Given the description of an element on the screen output the (x, y) to click on. 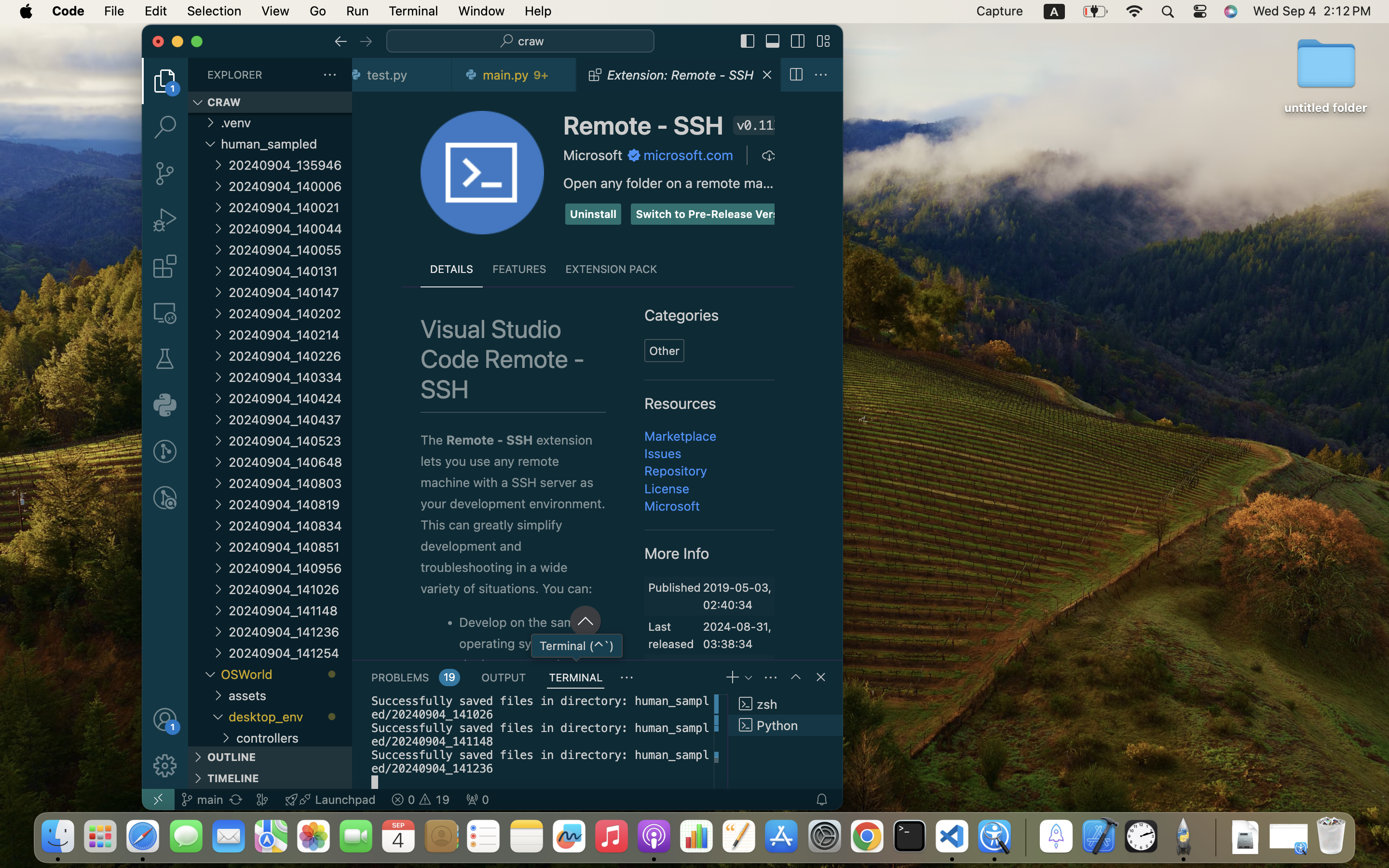
Open any folder on a remote machine using SSH and take advantage of VS Code's full feature set. Element type: AXStaticText (668, 182)
20240904_140834 Element type: AXGroup (290, 525)
0.4285714328289032 Element type: AXDockItem (1024, 836)
controllers Element type: AXGroup (294, 736)
 Element type: AXGroup (164, 765)
